Given the description of an element on the screen output the (x, y) to click on. 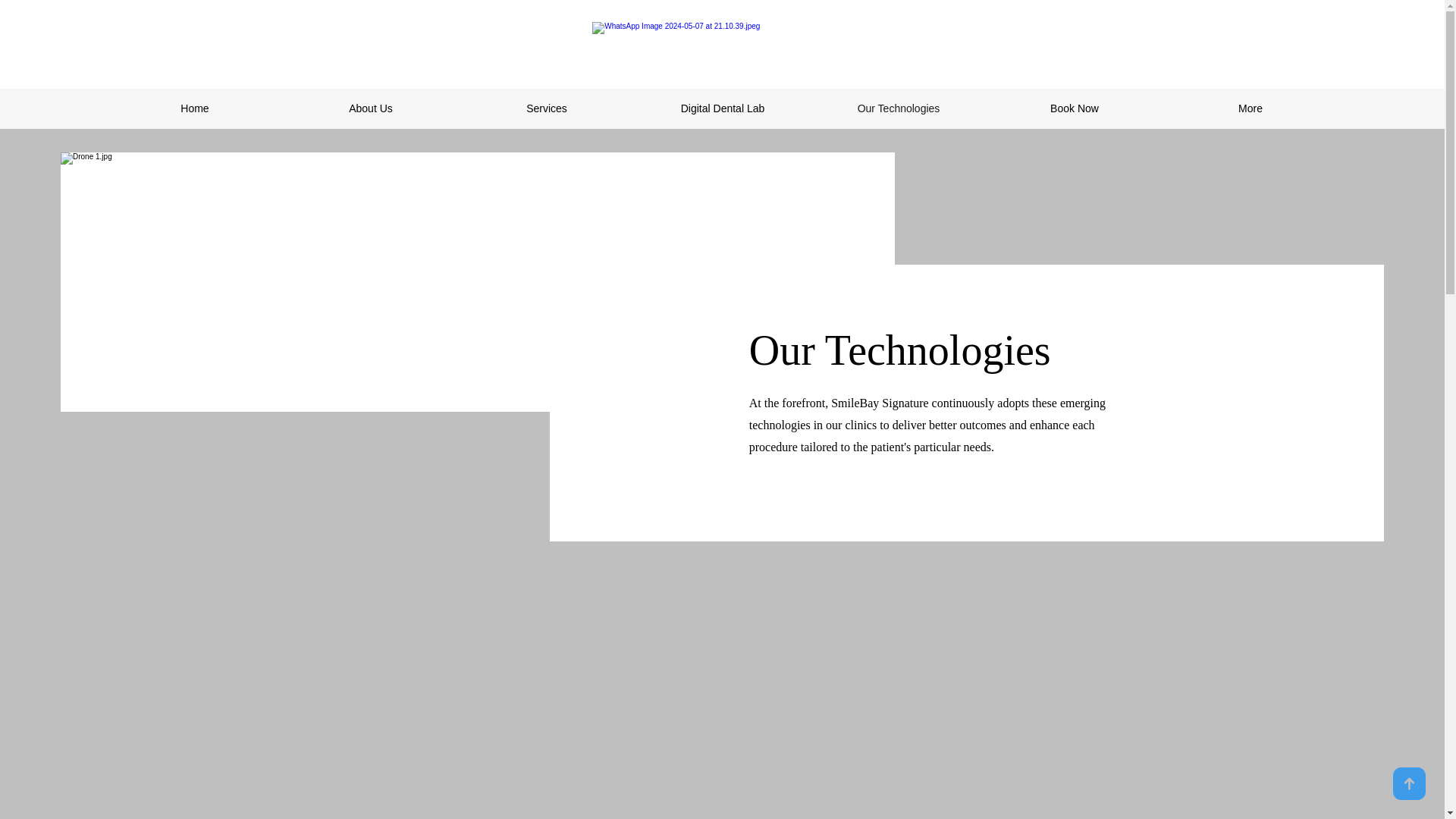
SmileBay-Signature-Logo-Advance-Implant. (728, 50)
About Us (370, 108)
Digital Dental Lab (722, 108)
Home (194, 108)
Our Technologies (898, 108)
Services (546, 108)
Book Now (1074, 108)
